Given the description of an element on the screen output the (x, y) to click on. 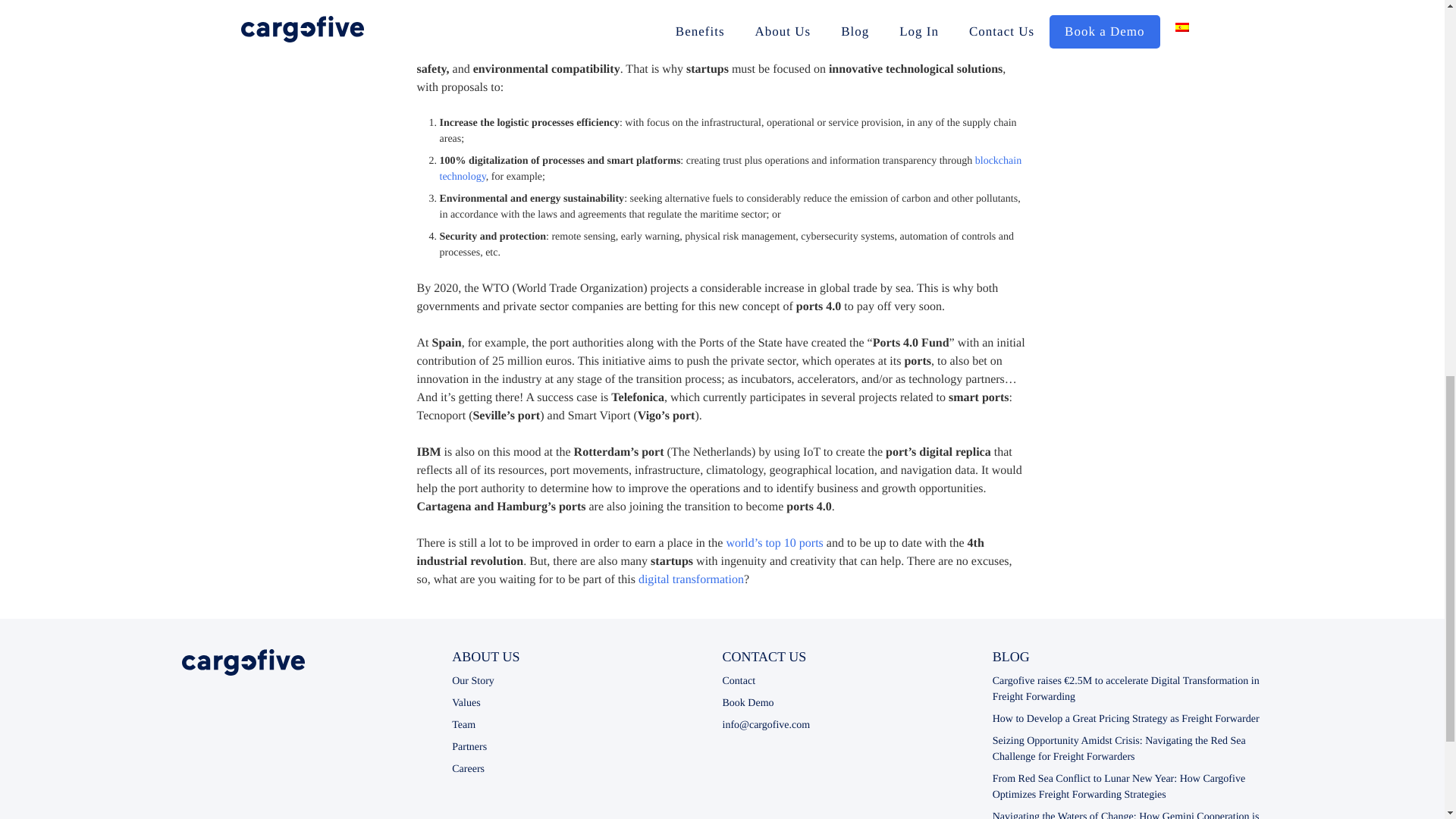
Values (465, 703)
blockchain technology (730, 168)
Partners (468, 747)
digital transformation (691, 579)
Our Story (473, 681)
Team (463, 725)
